Given the description of an element on the screen output the (x, y) to click on. 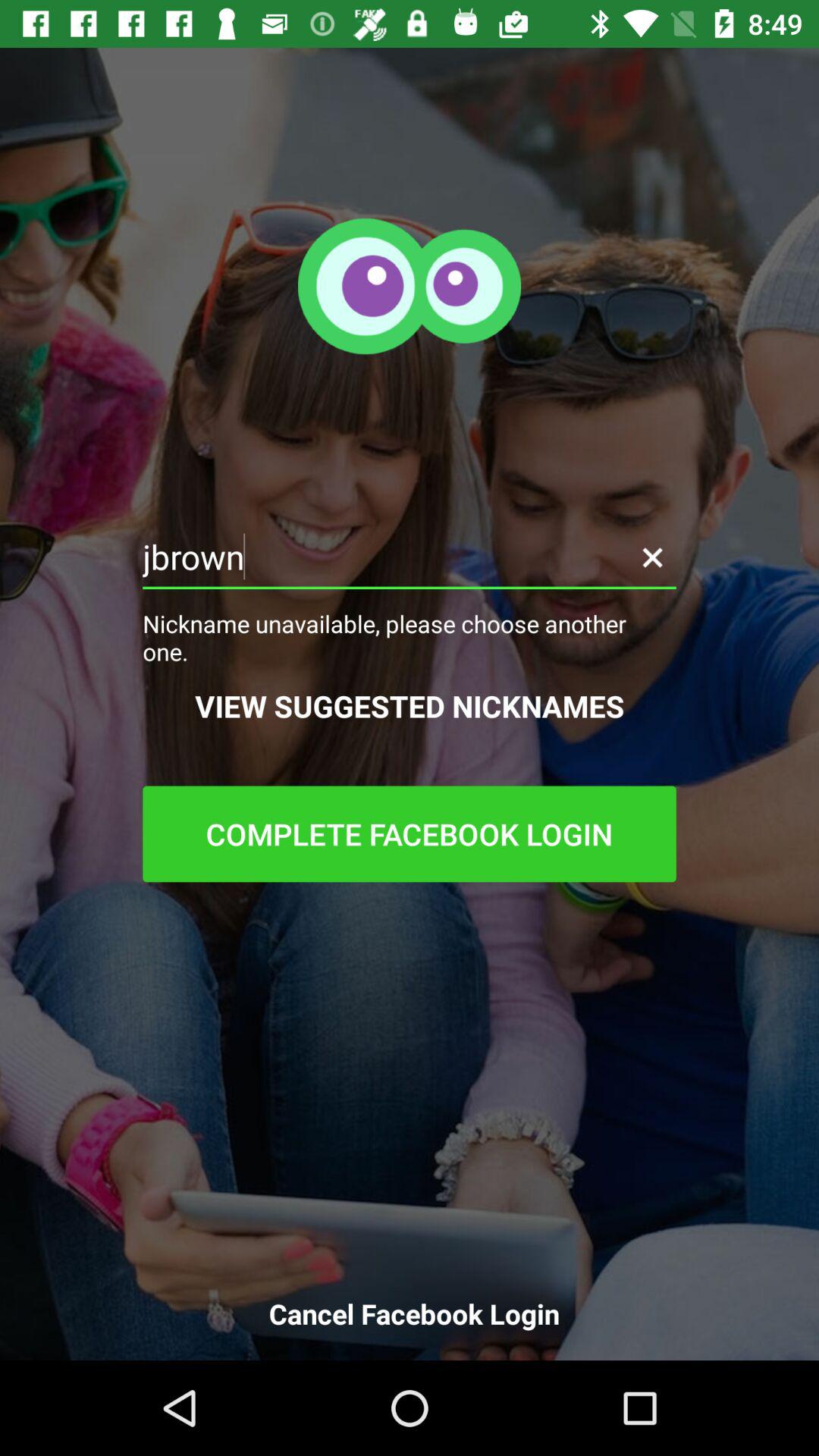
turn on the item below nickname unavailable please (409, 705)
